Given the description of an element on the screen output the (x, y) to click on. 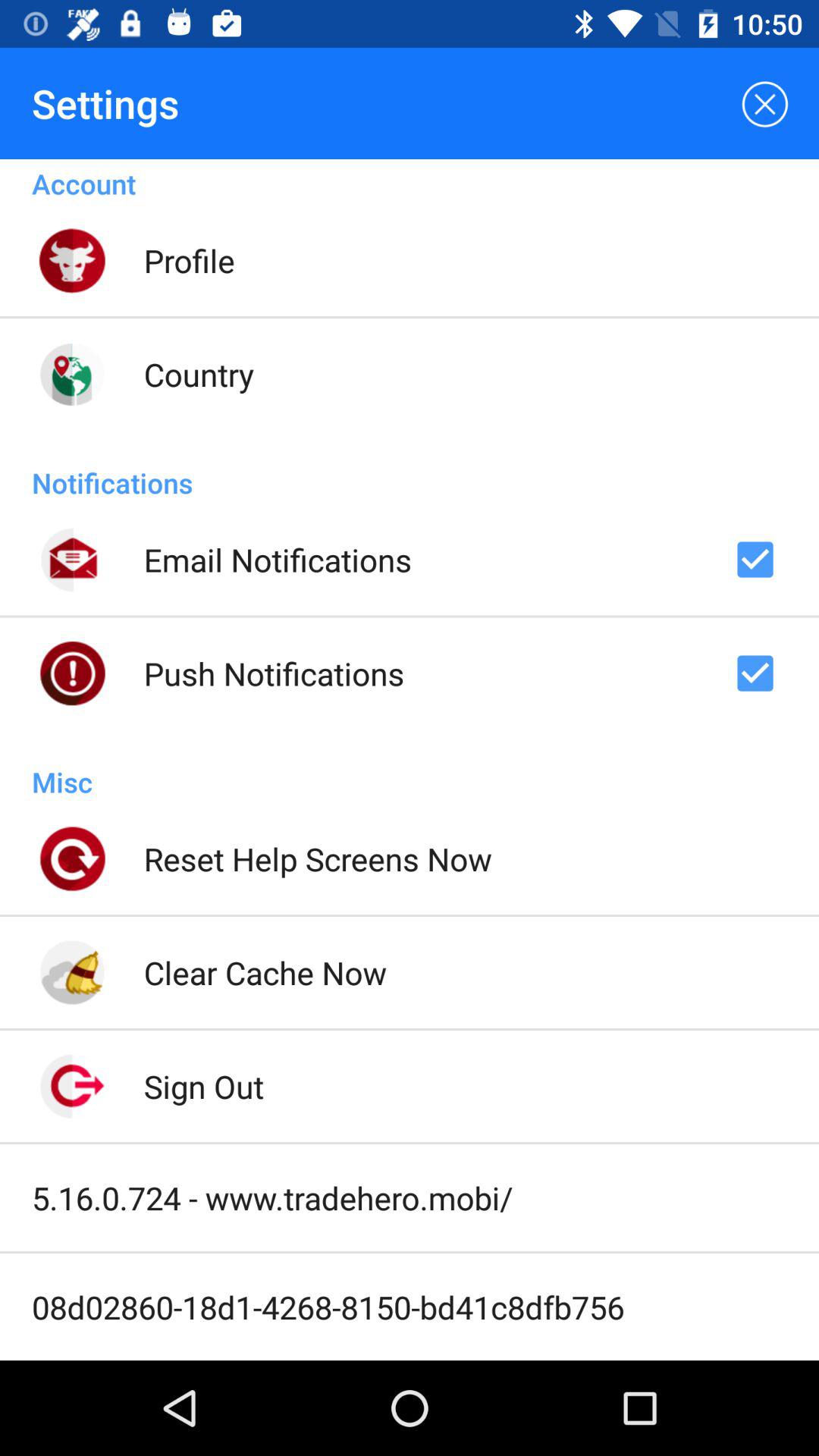
turn on the item below the clear cache now item (203, 1085)
